Given the description of an element on the screen output the (x, y) to click on. 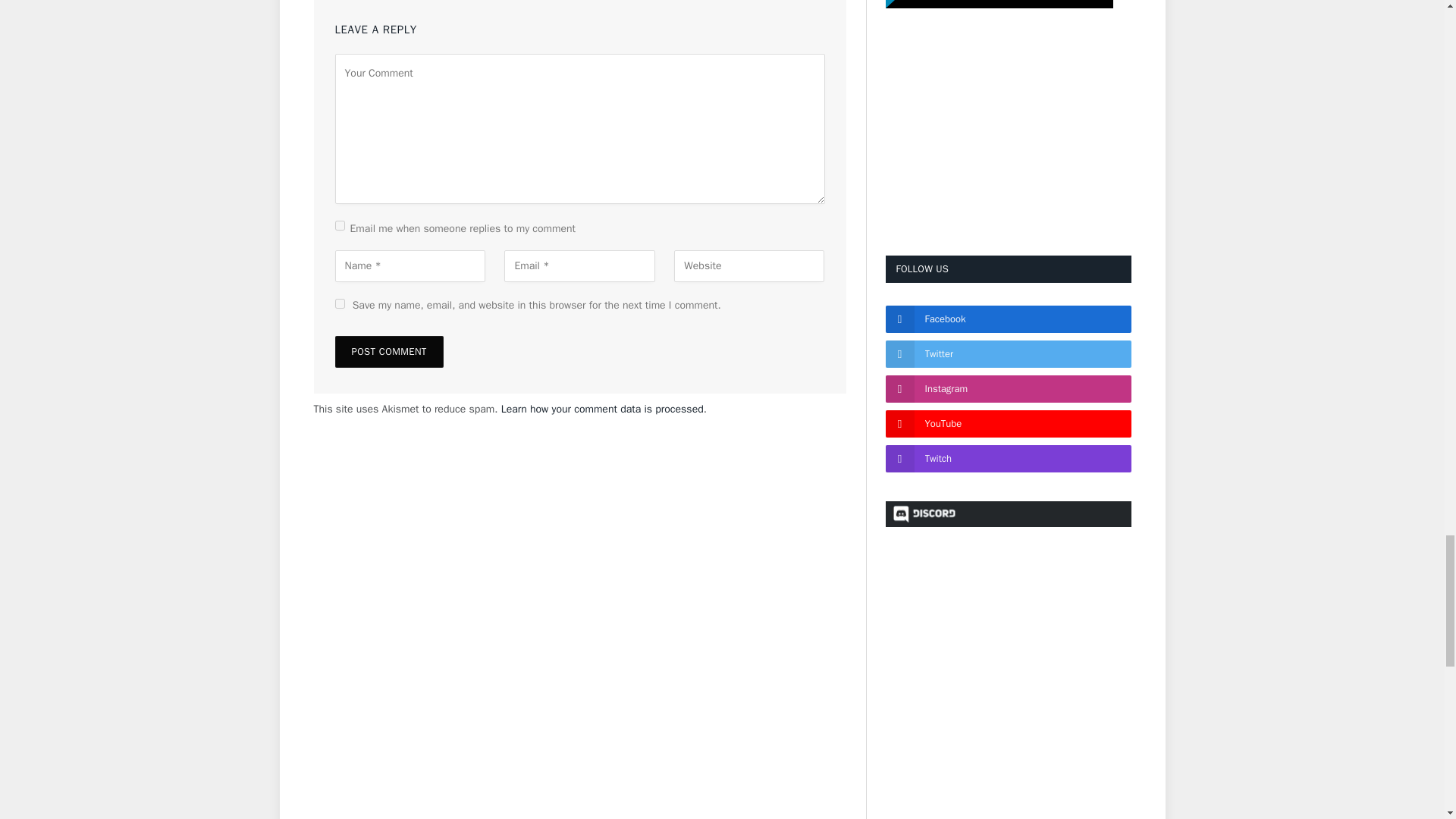
yes (339, 303)
Post Comment (389, 351)
